Given the description of an element on the screen output the (x, y) to click on. 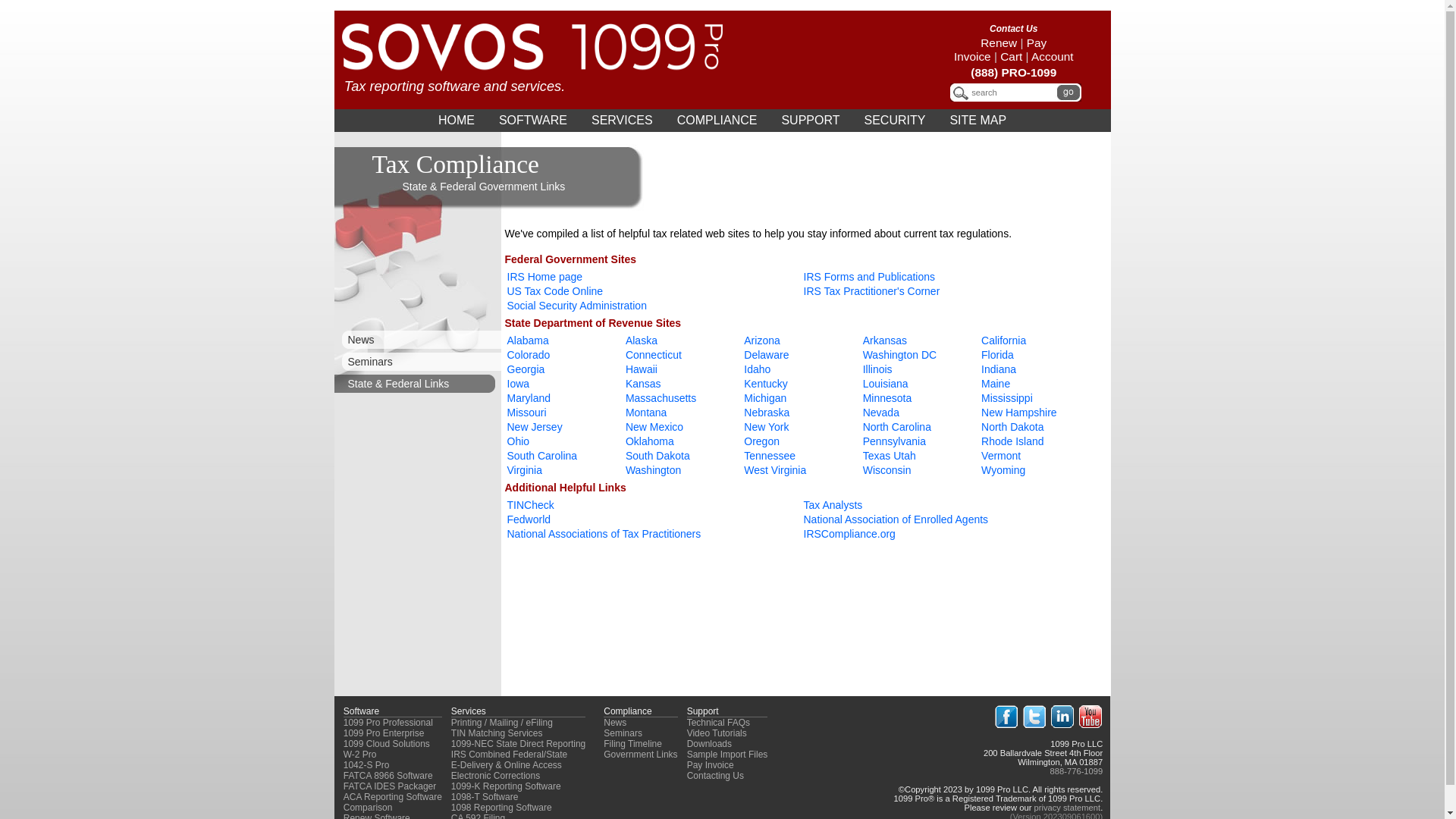
Seminars Element type: text (622, 733)
New York Element type: text (765, 426)
Alaska Element type: text (641, 340)
1099-K Reporting Software Element type: text (506, 786)
Illinois Element type: text (877, 369)
National Associations of Tax Practitioners Element type: text (603, 533)
Cart Element type: text (1011, 56)
Account Element type: text (1052, 56)
Minnesota Element type: text (887, 398)
Contacting Us Element type: text (715, 775)
Vermont Element type: text (1000, 455)
E-Delivery & Online Access Element type: text (506, 764)
Utah Element type: text (904, 455)
SOFTWARE Element type: text (532, 120)
Pay Invoice Element type: text (999, 49)
Contact Us Element type: text (1013, 28)
1042-S Pro Element type: text (366, 764)
TINCheck Element type: text (529, 504)
Tax Analysts Element type: text (832, 504)
Delaware Element type: text (765, 354)
Mississippi Element type: text (1006, 398)
Maine Element type: text (995, 383)
Kansas Element type: text (643, 383)
West Virginia Element type: text (774, 470)
Seminars Element type: text (416, 361)
Washington DC  Element type: text (900, 354)
Technical FAQs Element type: text (718, 722)
Georgia Element type: text (525, 369)
Iowa Element type: text (517, 383)
Washington Element type: text (652, 470)
1099-NEC State Direct Reporting Element type: text (518, 743)
South Carolina Element type: text (541, 455)
North Dakota Element type: text (1012, 426)
Support Element type: text (702, 711)
North Carolina Element type: text (896, 426)
Montana Element type: text (645, 412)
Compliance Element type: text (627, 711)
Idaho Element type: text (756, 369)
Filing Timeline Element type: text (632, 743)
1099 Pro Professional Element type: text (388, 722)
Social Security Administration Element type: text (576, 305)
Hawaii Element type: text (641, 369)
IRS Tax Practitioner's Corner Element type: text (871, 291)
SUPPORT Element type: text (809, 120)
Arkansas Element type: text (884, 340)
Electronic Corrections Element type: text (495, 775)
Connecticut Element type: text (653, 354)
IRS Forms and Publications Element type: text (869, 276)
Virginia Element type: text (523, 470)
Oklahoma Element type: text (649, 441)
Sample Import Files Element type: text (727, 754)
1099 Pro Enterprise Element type: text (383, 733)
Oregon Element type: text (761, 441)
Software Element type: text (361, 711)
State & Federal Links Element type: text (416, 383)
COMPLIANCE Element type: text (716, 120)
IRS Combined Federal/State Element type: text (509, 754)
ACA Reporting Software Element type: text (392, 796)
Rhode Island Element type: text (1012, 441)
Fedworld Element type: text (528, 519)
1099 Cloud Solutions Element type: text (386, 743)
Alabama Element type: text (527, 340)
FATCA 8966 Software Element type: text (388, 775)
IRS Home page Element type: text (544, 276)
(888) PRO-1099 Element type: text (1013, 71)
Kentucky Element type: text (765, 383)
Services Element type: text (468, 711)
FATCA IDES Packager Element type: text (389, 786)
SITE MAP Element type: text (977, 120)
Louisiana Element type: text (885, 383)
Indiana Element type: text (998, 369)
Pay Invoice Element type: text (710, 764)
Nevada Element type: text (880, 412)
Arizona Element type: text (761, 340)
Renew Element type: text (998, 42)
National Association of Enrolled Agents Element type: text (895, 519)
Ohio Element type: text (517, 441)
Video Tutorials Element type: text (716, 733)
Printing / Mailing / eFiling Element type: text (501, 722)
W-2 Pro Element type: text (359, 754)
1098-T Software Element type: text (484, 796)
Michigan Element type: text (764, 398)
New Hampshire Element type: text (1019, 412)
Texas Element type: text (876, 455)
IRSCompliance.org Element type: text (849, 533)
Nebraska Element type: text (766, 412)
888-776-1099 Element type: text (1076, 770)
Tennessee Element type: text (769, 455)
News Element type: text (614, 722)
Maryland Element type: text (528, 398)
Government Links Element type: text (640, 754)
SECURITY Element type: text (894, 120)
Wisconsin Element type: text (886, 470)
Comparison Element type: text (367, 807)
California Element type: text (1003, 340)
Massachusetts Element type: text (660, 398)
HOME Element type: text (456, 120)
South Dakota Element type: text (657, 455)
Downloads Element type: text (709, 743)
TIN Matching Services Element type: text (496, 733)
Wyoming Element type: text (1003, 470)
Missouri Element type: text (526, 412)
Colorado Element type: text (527, 354)
privacy statement Element type: text (1066, 807)
News Element type: text (416, 339)
Pennsylvania Element type: text (893, 441)
US Tax Code Online Element type: text (554, 291)
Florida Element type: text (997, 354)
SERVICES Element type: text (622, 120)
1098 Reporting Software Element type: text (501, 807)
New Jersey Element type: text (533, 426)
New Mexico Element type: text (654, 426)
